Given the description of an element on the screen output the (x, y) to click on. 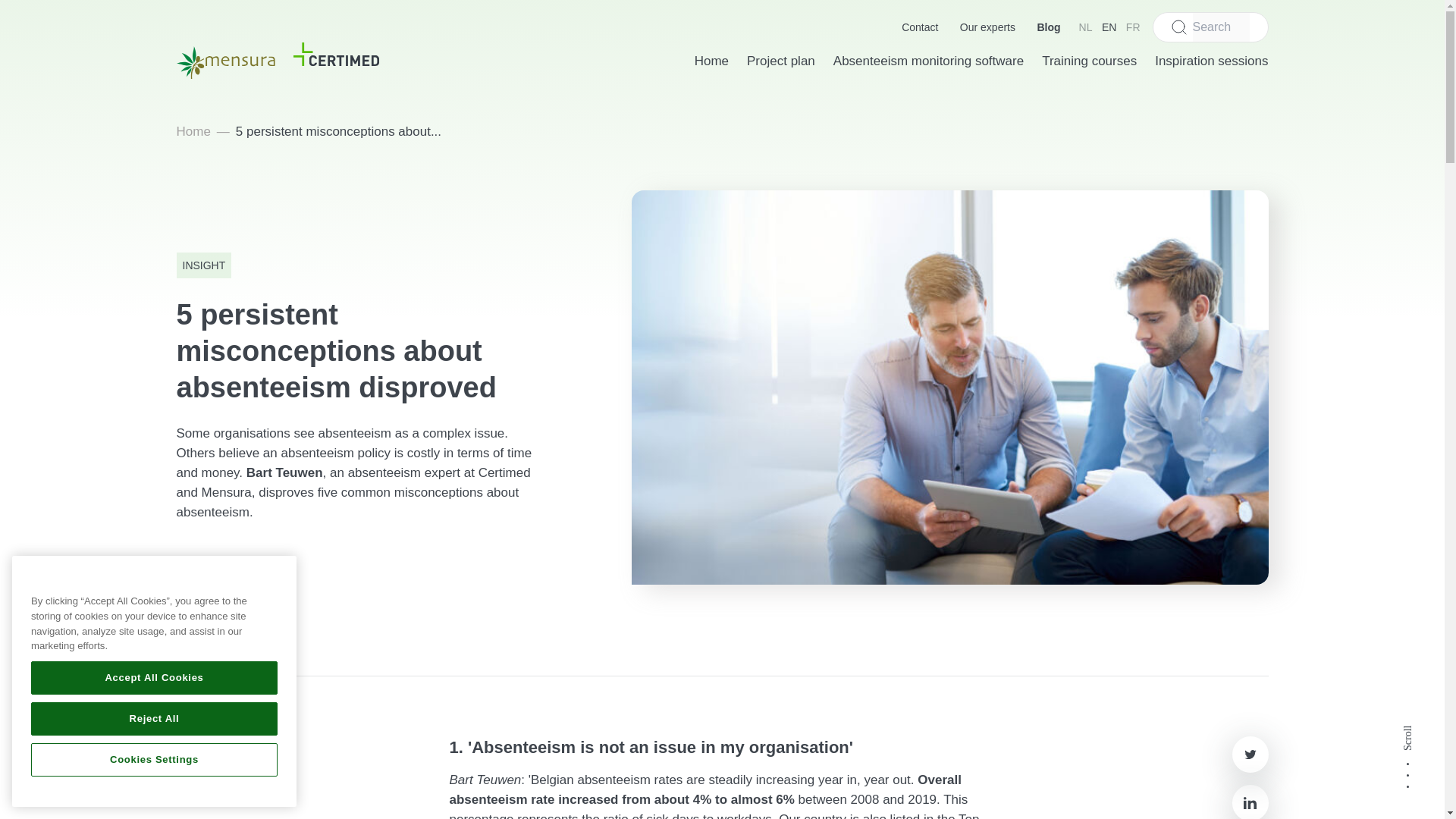
Blog (1047, 27)
EN (1109, 27)
Home (711, 60)
Inspiration sessions (1211, 60)
Project plan (780, 60)
FR (1132, 27)
Contact (919, 27)
Our experts (986, 27)
Absenteeism monitoring software (927, 60)
Home (192, 131)
Training courses (1089, 60)
